Given the description of an element on the screen output the (x, y) to click on. 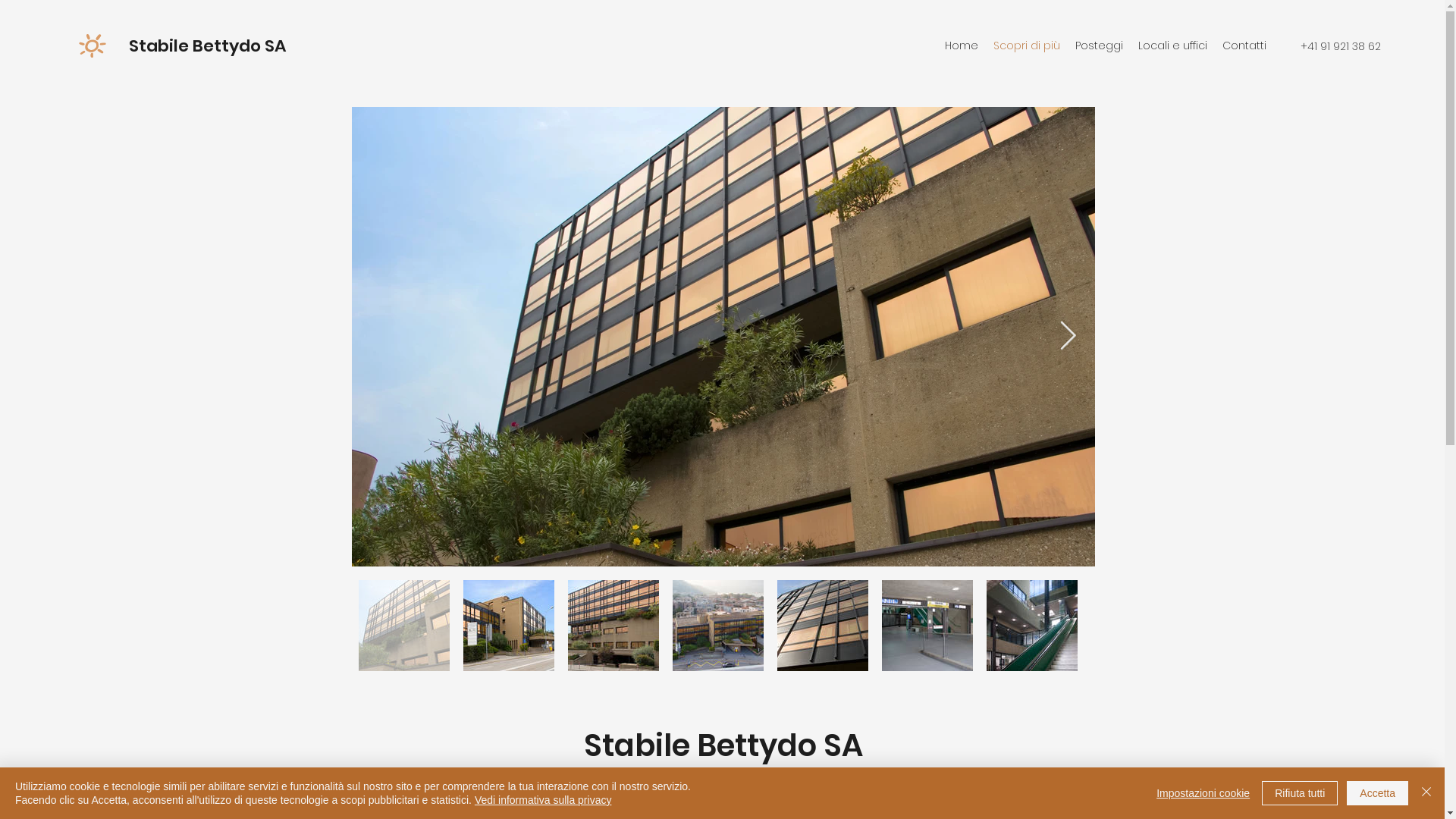
Locali e uffici Element type: text (1172, 45)
Stabile Bettydo SA Element type: text (206, 45)
Rifiuta tutti Element type: text (1299, 793)
Accetta Element type: text (1377, 793)
Posteggi Element type: text (1098, 45)
Contatti Element type: text (1244, 45)
Vedi informativa sulla privacy Element type: text (542, 799)
Home Element type: text (961, 45)
